Given the description of an element on the screen output the (x, y) to click on. 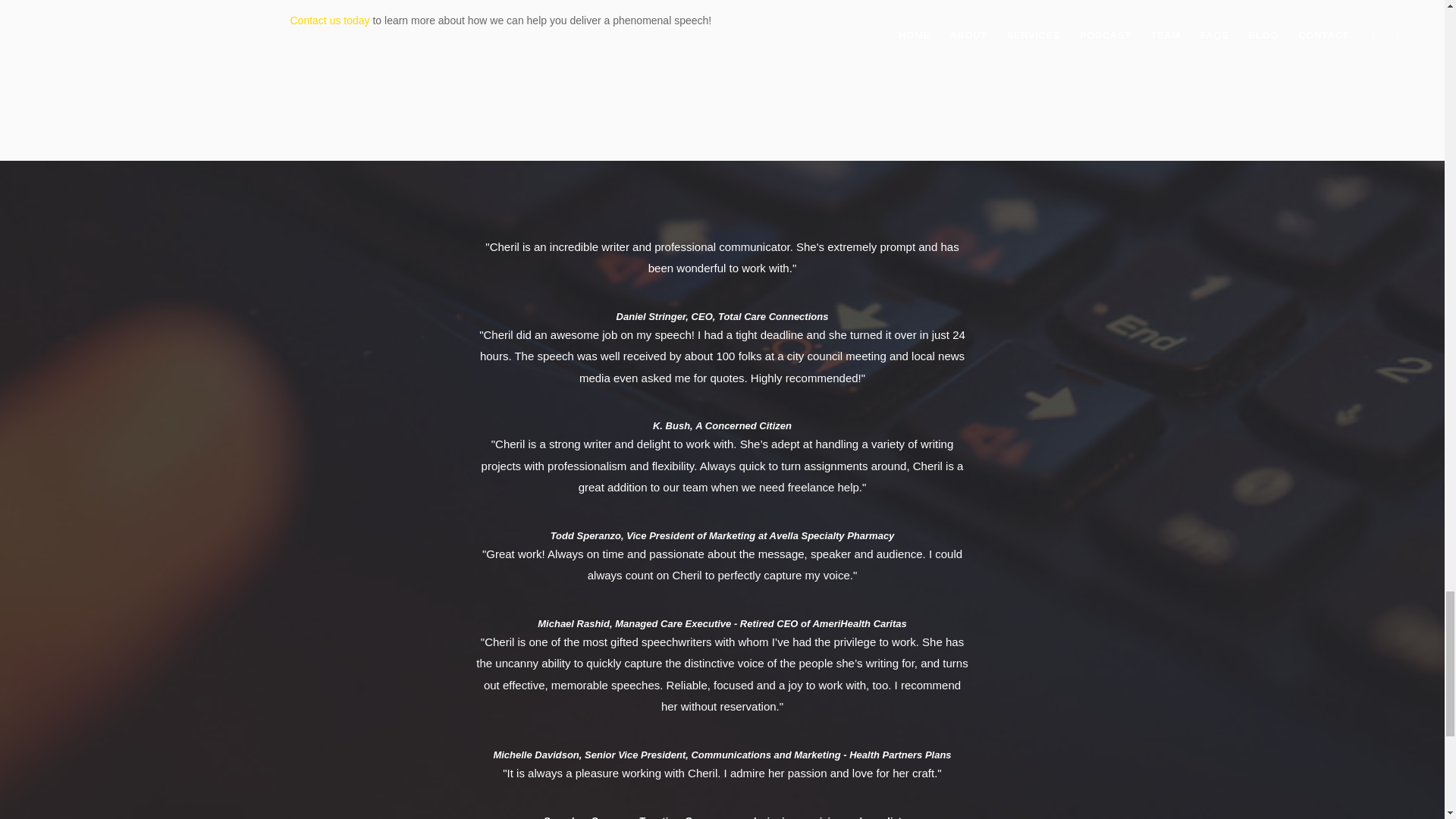
Contact us today (329, 20)
